Given the description of an element on the screen output the (x, y) to click on. 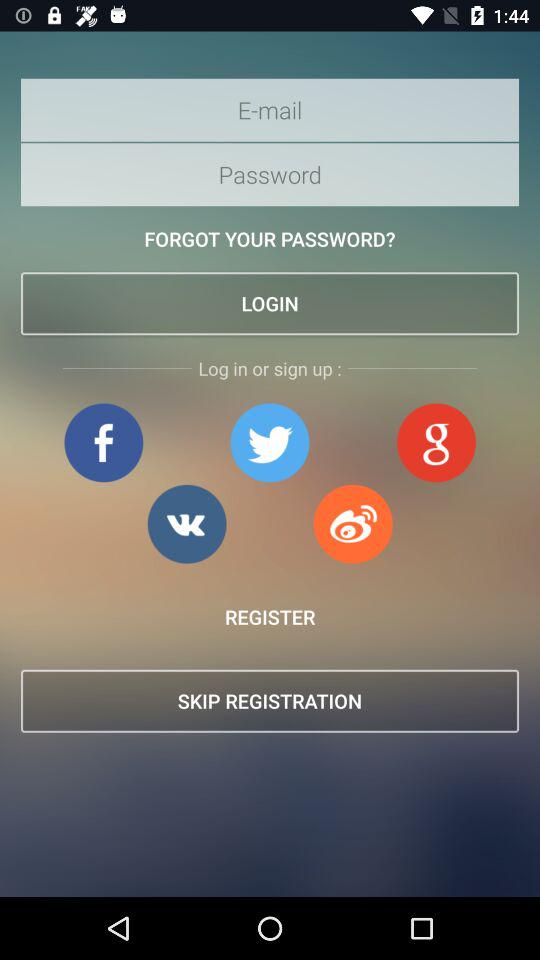
enter password (270, 174)
